Given the description of an element on the screen output the (x, y) to click on. 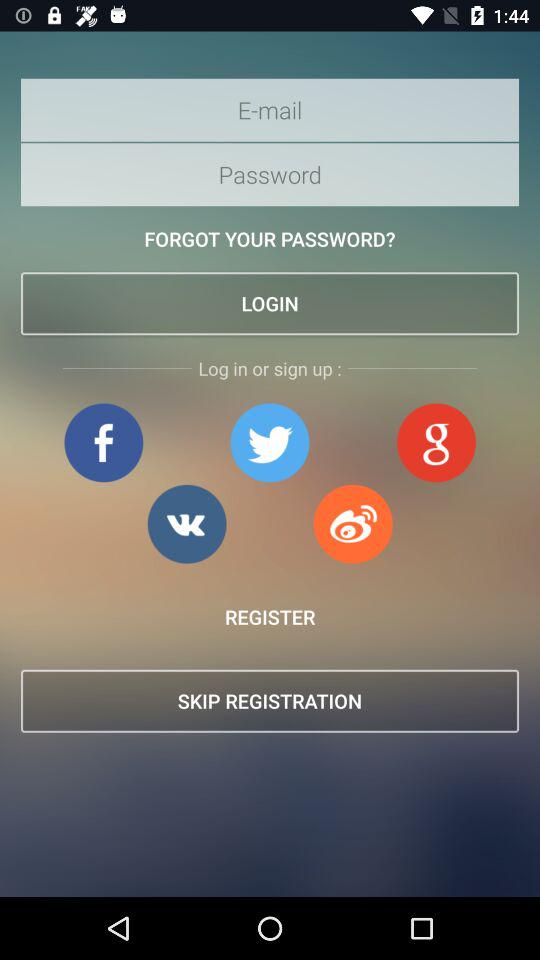
enter password (270, 174)
